Given the description of an element on the screen output the (x, y) to click on. 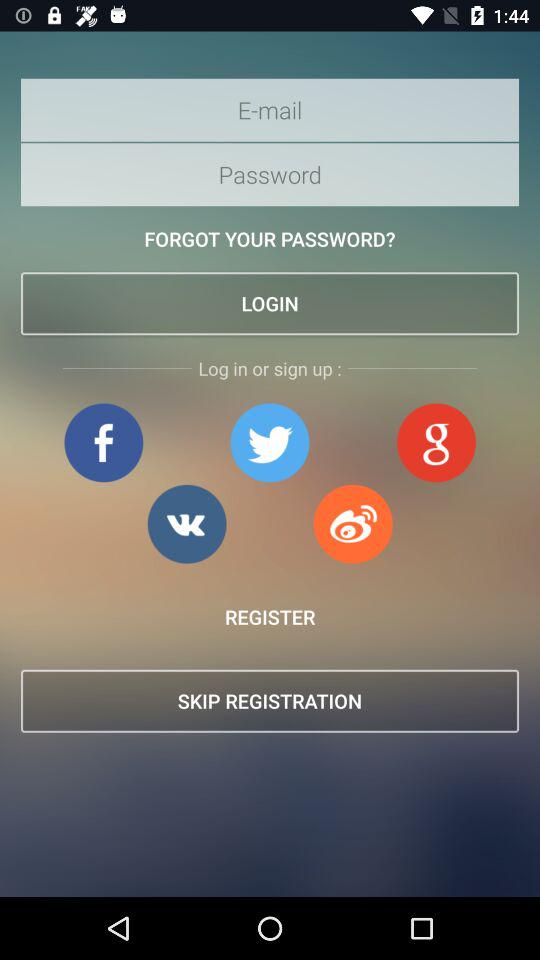
enter password (270, 174)
